Given the description of an element on the screen output the (x, y) to click on. 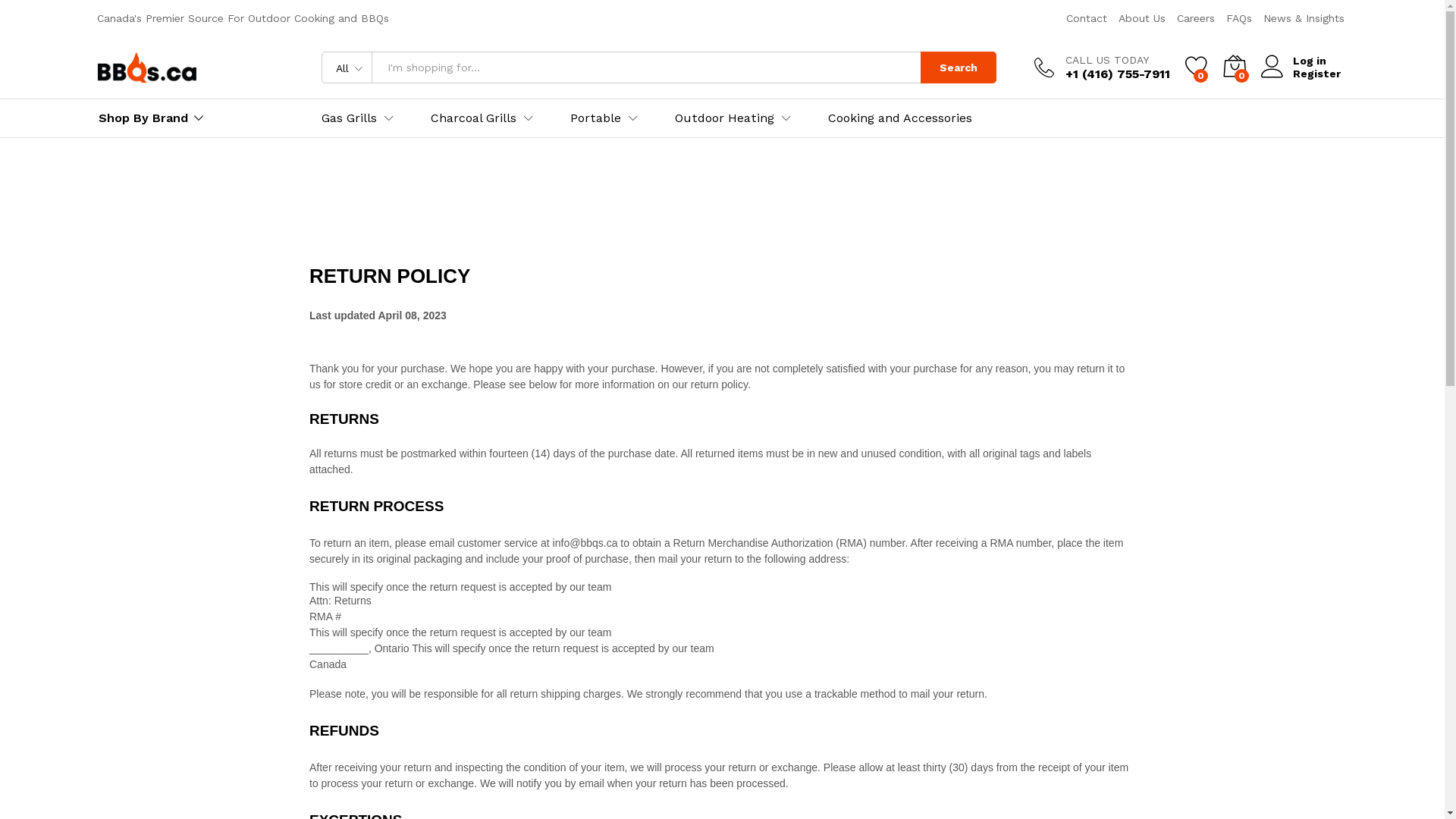
Register Element type: text (1299, 73)
CALL US TODAY
+1 (416) 755-7911 Element type: text (1102, 67)
FAQs Element type: text (1238, 18)
Careers Element type: text (1195, 18)
Search Element type: text (958, 67)
0 Element type: text (1233, 67)
Contact Element type: text (1086, 18)
About Us Element type: text (1140, 18)
News & Insights Element type: text (1303, 18)
0 Element type: text (1195, 67)
Portable Element type: text (595, 118)
Charcoal Grills Element type: text (473, 118)
Outdoor Heating Element type: text (724, 118)
Cooking and Accessories Element type: text (900, 118)
Gas Grills Element type: text (348, 118)
Log in Element type: text (1299, 60)
